Given the description of an element on the screen output the (x, y) to click on. 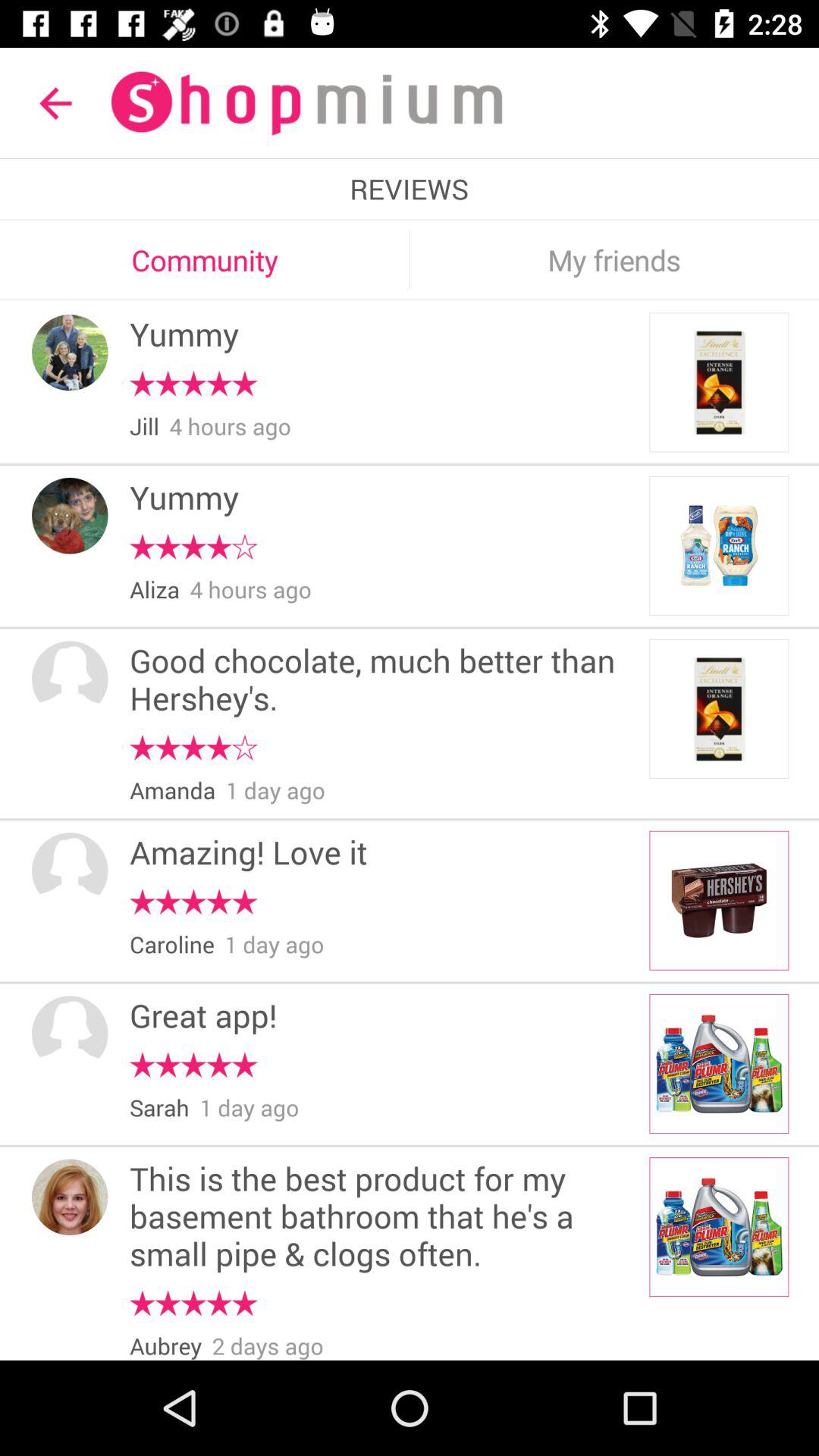
choose the item next to good chocolate much (69, 678)
